Given the description of an element on the screen output the (x, y) to click on. 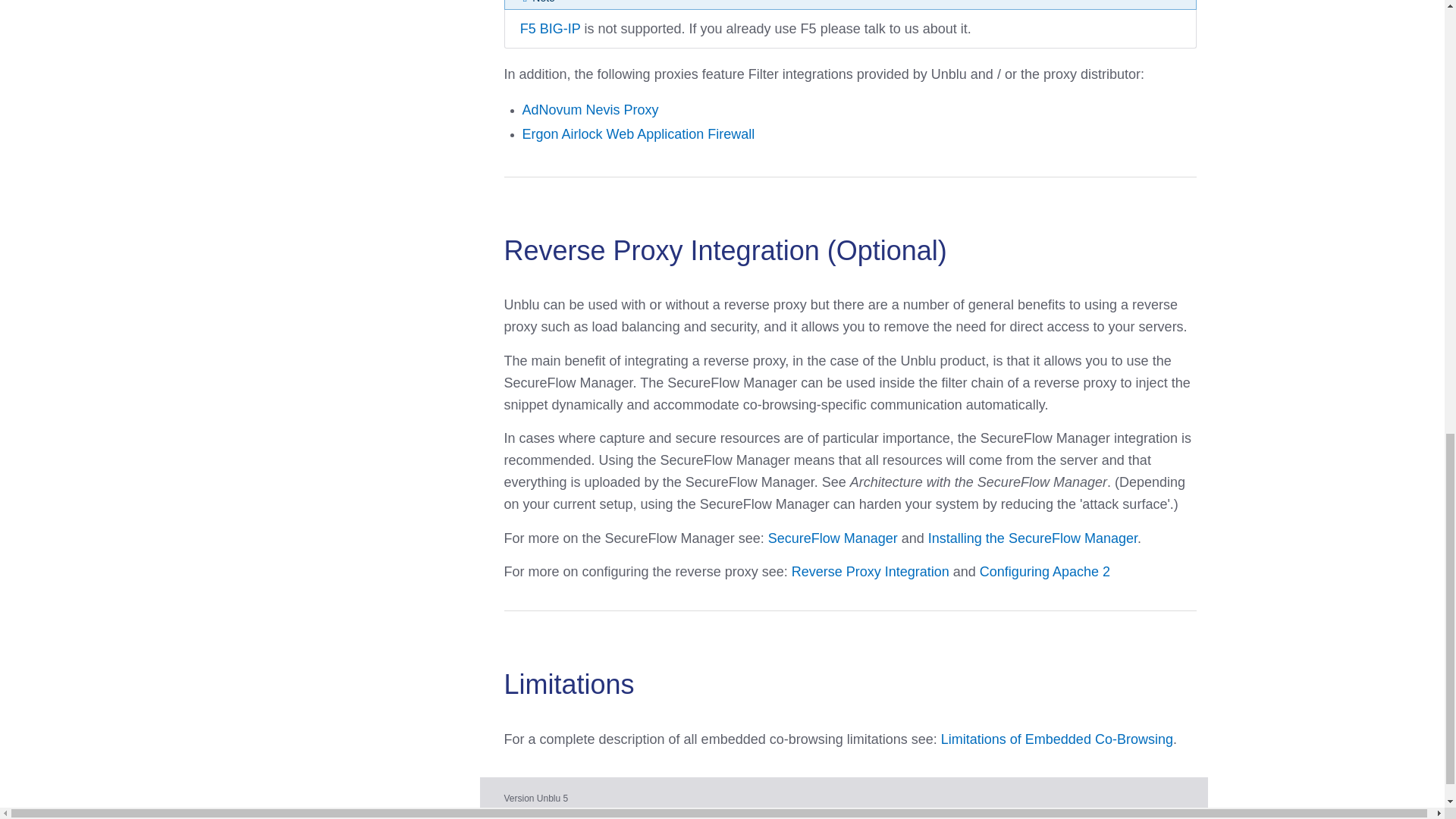
Limitations of Embedded Co-Browsing (1056, 739)
Note (538, 2)
Configuring Apache 2 (1044, 571)
Ergon Airlock Web Application Firewall (637, 133)
AdNovum Nevis Proxy (589, 109)
Installing the SecureFlow Manager (1032, 538)
Reverse Proxy Integration (870, 571)
SecureFlow Manager (833, 538)
F5 BIG-IP (549, 28)
